Given the description of an element on the screen output the (x, y) to click on. 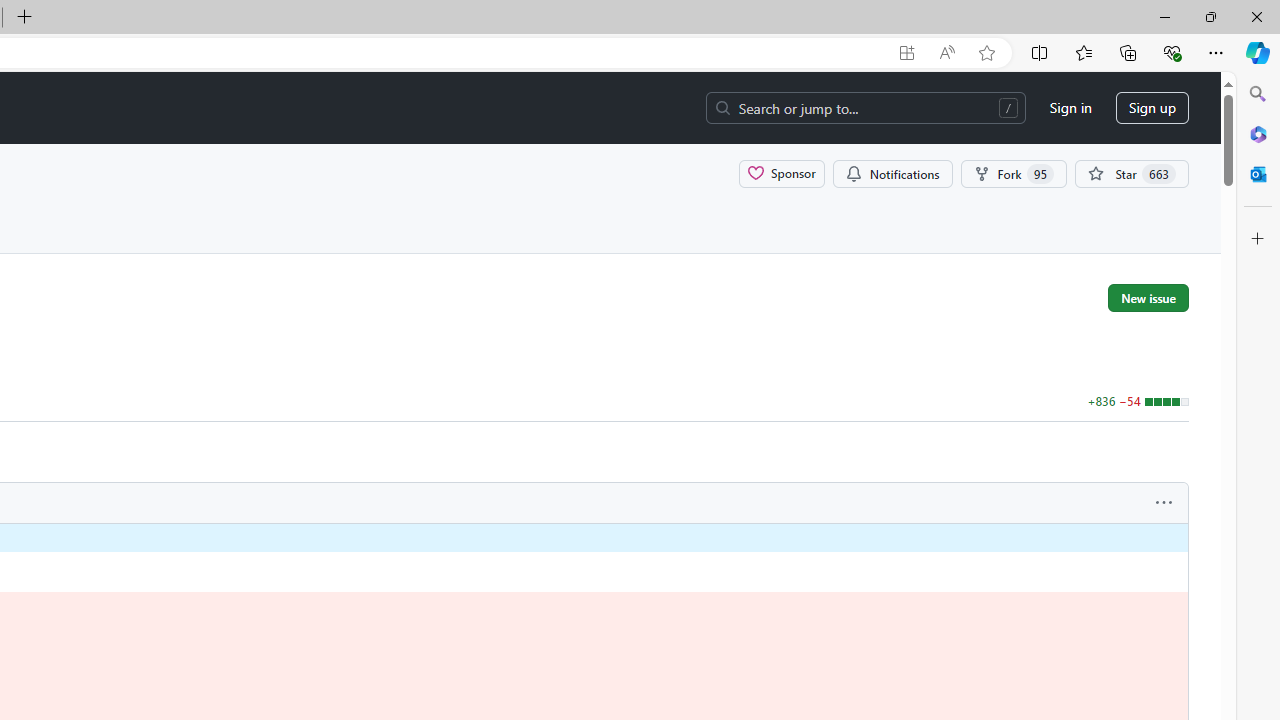
Sponsor (781, 173)
You must be signed in to star a repository (1132, 173)
 Star 663 (1132, 173)
Fork 95 (1013, 173)
You must be signed in to change notification settings (892, 173)
Show options (1163, 503)
Show options (1163, 503)
Fork 95 (1013, 173)
